Given the description of an element on the screen output the (x, y) to click on. 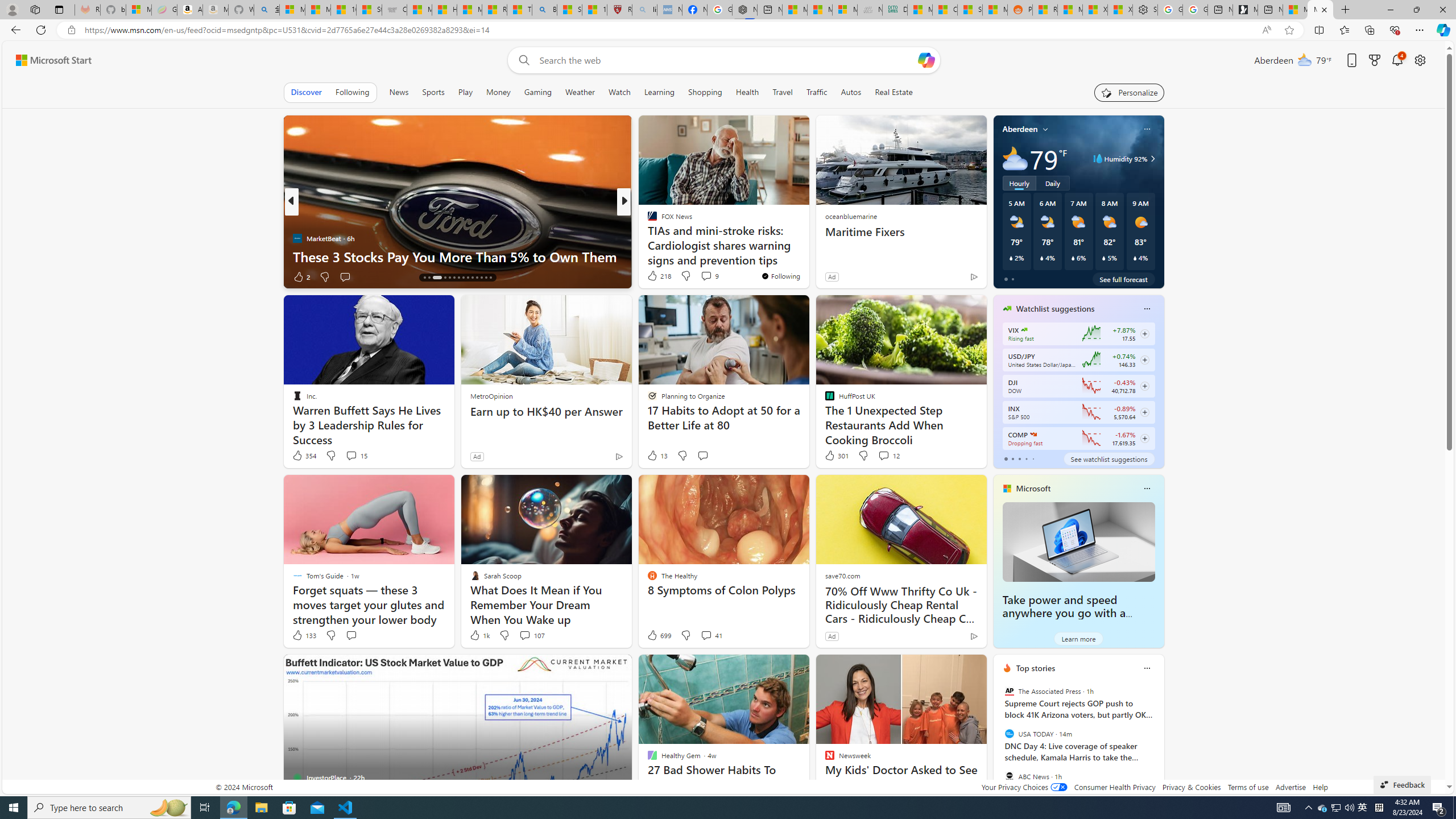
15 Like (652, 276)
Shopping (705, 92)
Class: weather-arrow-glyph (1152, 158)
Shopping (705, 92)
Travel (782, 92)
tab-1 (1012, 458)
Health (746, 92)
Watchlist suggestions (1055, 308)
